Given the description of an element on the screen output the (x, y) to click on. 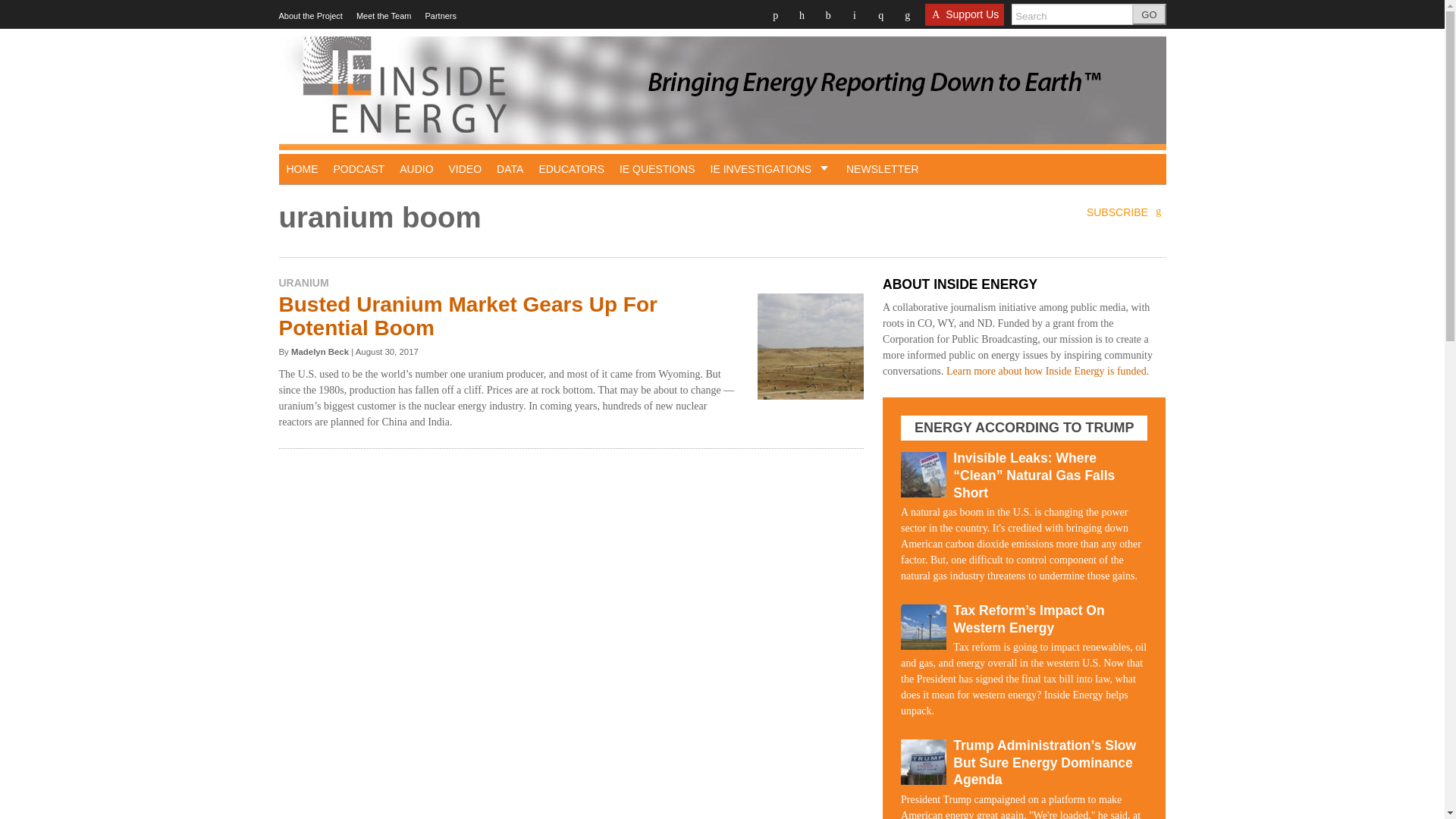
About the Project (310, 15)
Read Posts in the uranium category (304, 282)
Skip to content (295, 18)
Partners (441, 15)
Skip to content (295, 18)
Meet the Team (384, 15)
GO (1149, 14)
Support Us (964, 19)
